Given the description of an element on the screen output the (x, y) to click on. 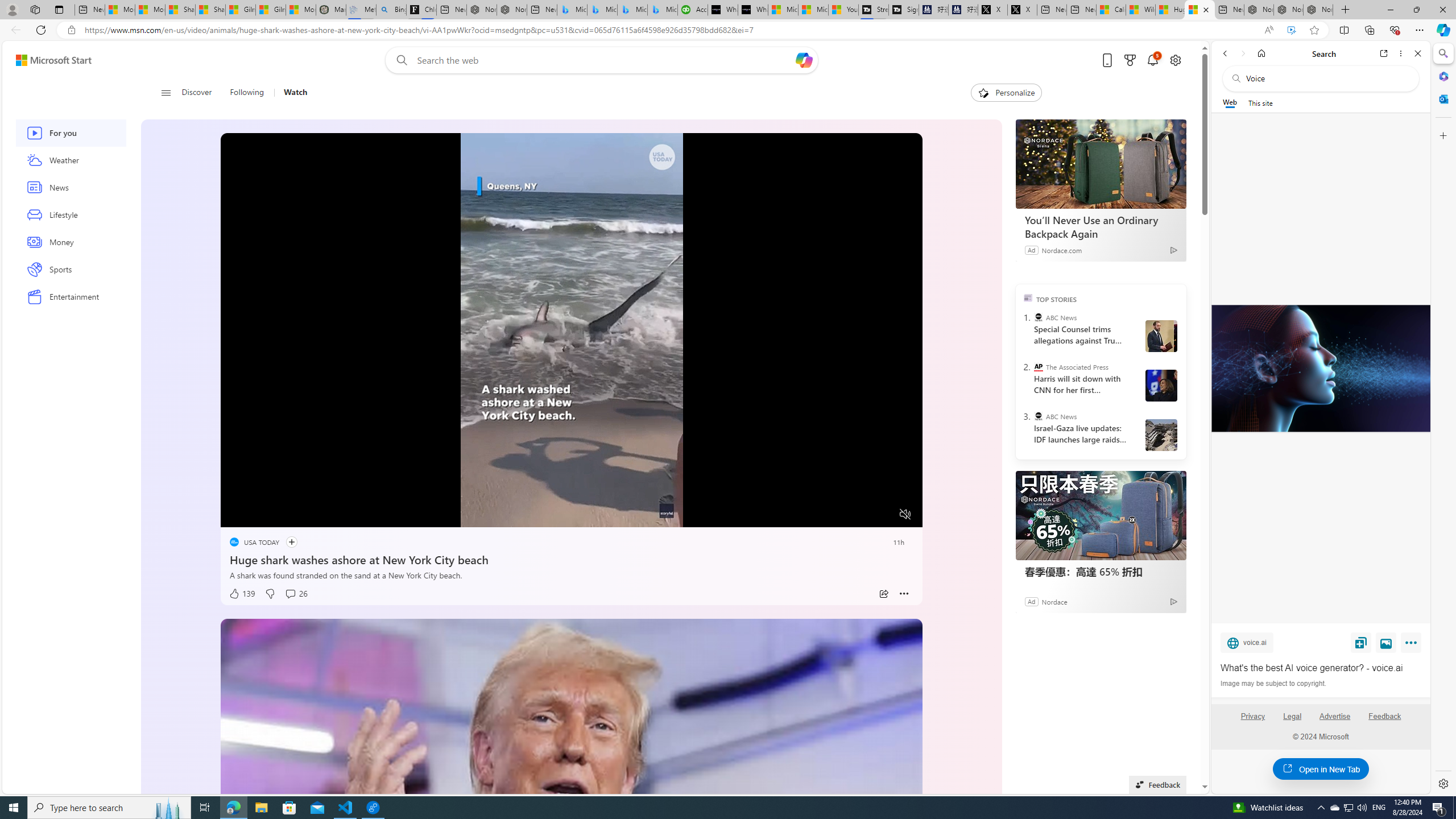
Notifications (1152, 60)
Seek Forward (283, 514)
Microsoft Bing Travel - Stays in Bangkok, Bangkok, Thailand (601, 9)
Chloe Sorvino (421, 9)
Skip to footer (46, 59)
Nordace.com (1061, 249)
Forward (1242, 53)
Skip to content (49, 59)
Legal (1292, 720)
Settings (1442, 783)
What's the best AI voice generator? - voice.ai (753, 9)
